Given the description of an element on the screen output the (x, y) to click on. 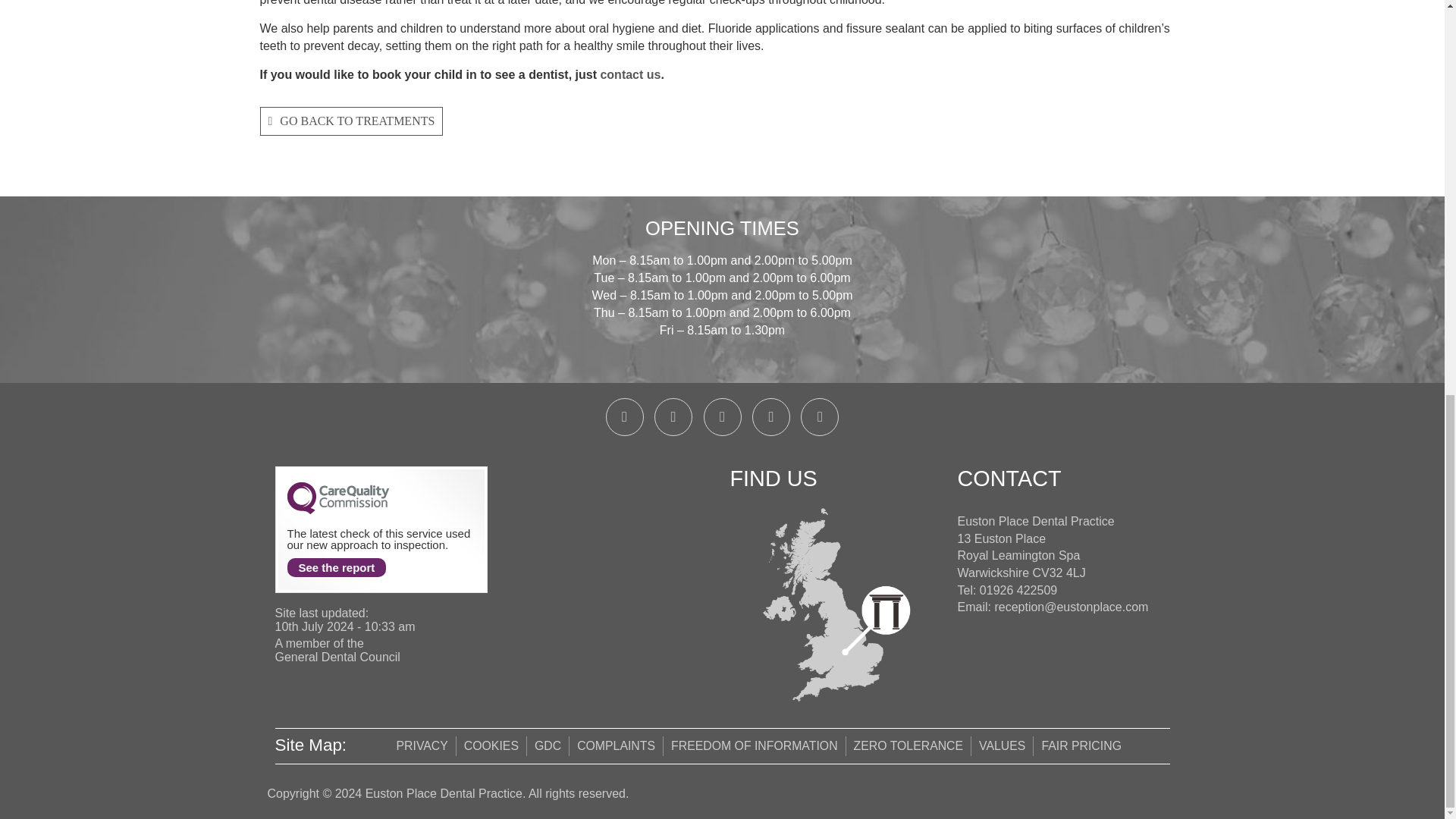
General Dental Council (336, 656)
Like us on Facebook (673, 416)
EMAIL (1071, 606)
PRIVACY (421, 745)
CQC Logo (337, 510)
GO BACK TO TREATMENTS (350, 121)
Review us on Google (819, 416)
Follow us on Twitter (771, 416)
contact us (628, 74)
Follow us on Instagram (722, 416)
See the report (335, 567)
Find Us (835, 603)
